Given the description of an element on the screen output the (x, y) to click on. 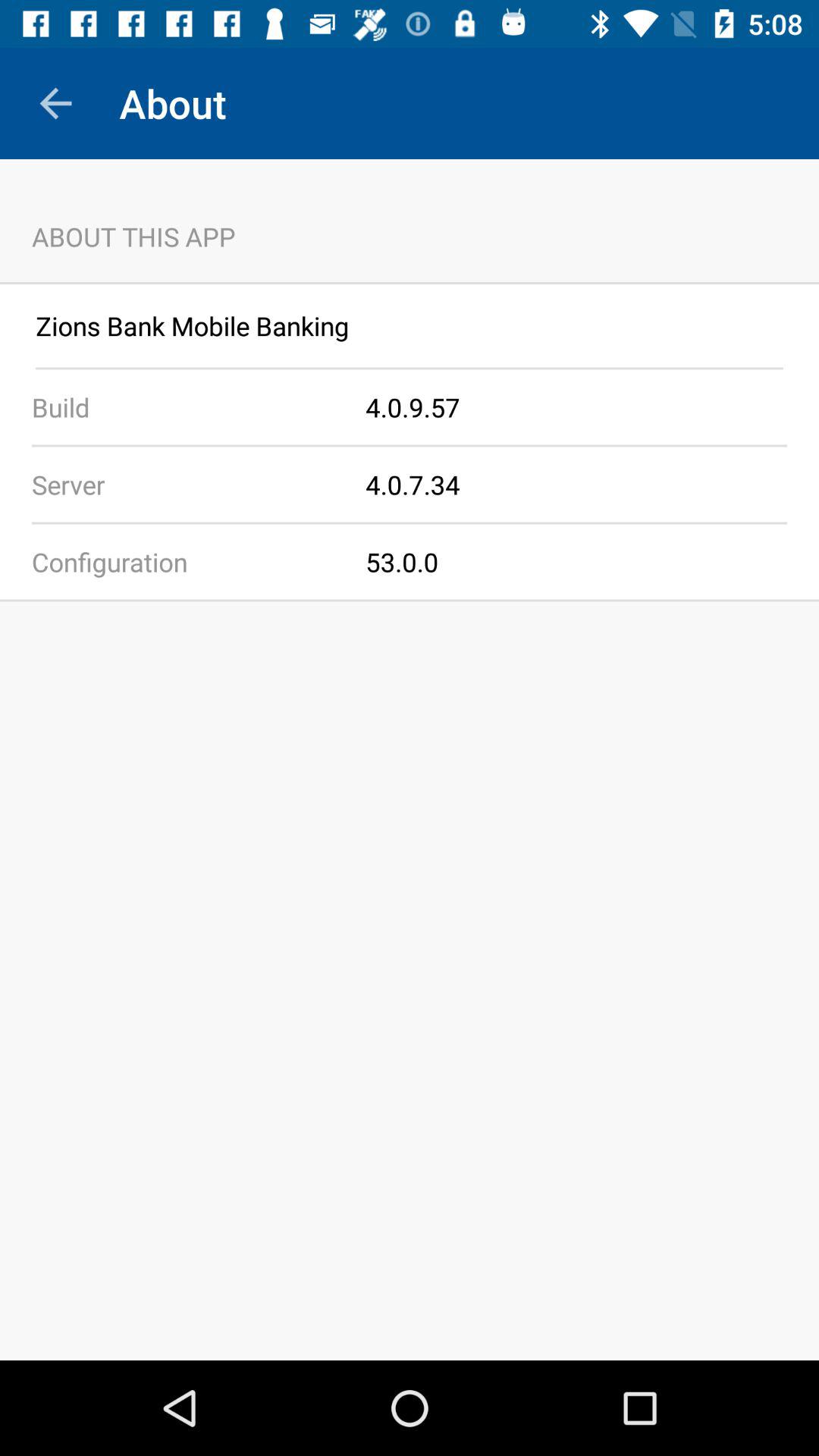
click the app to the left of the about (55, 103)
